Given the description of an element on the screen output the (x, y) to click on. 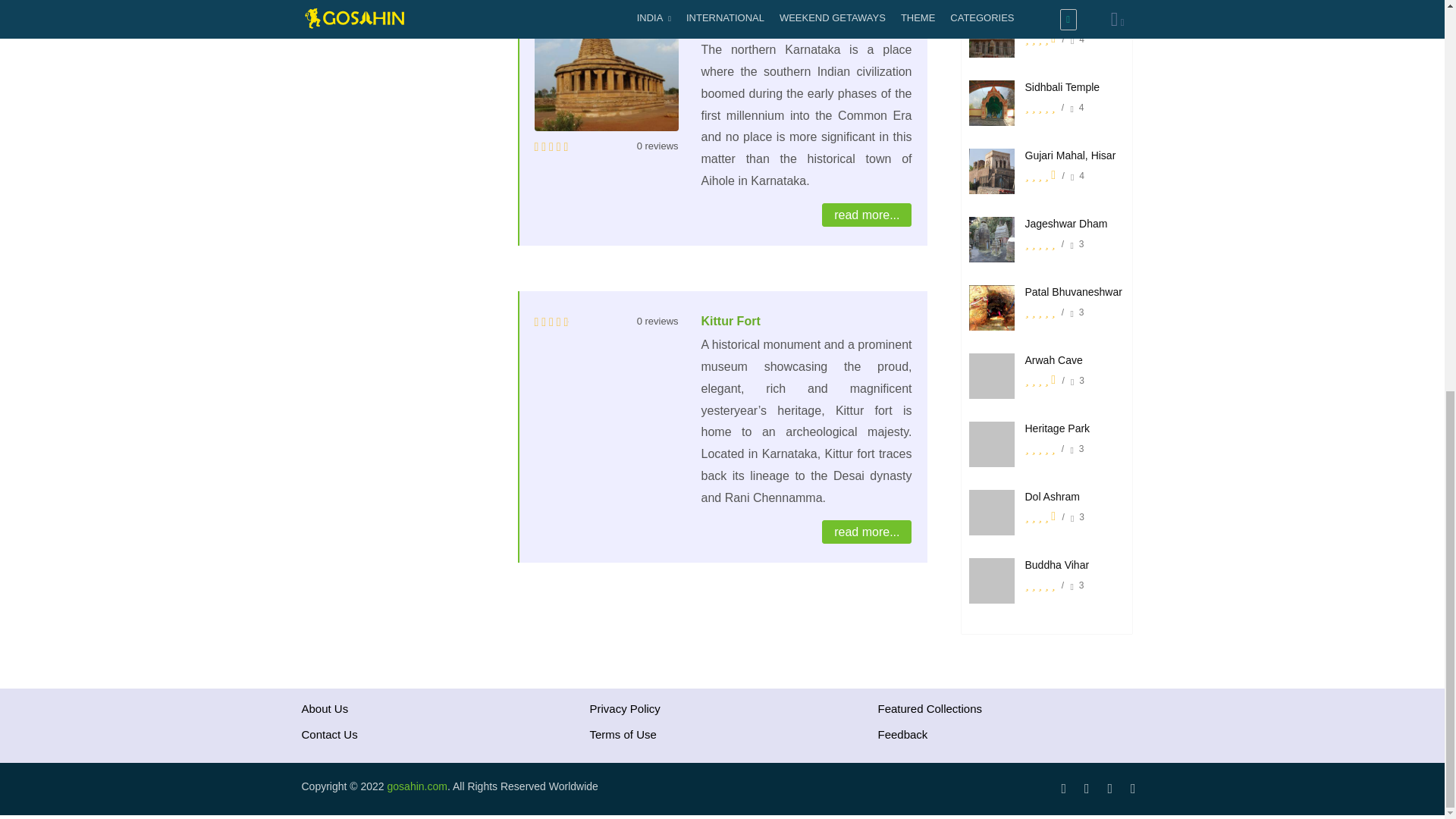
Durga Temple Aihole (760, 25)
Kittur Fort (730, 320)
read more... (866, 215)
read more... (866, 532)
